Given the description of an element on the screen output the (x, y) to click on. 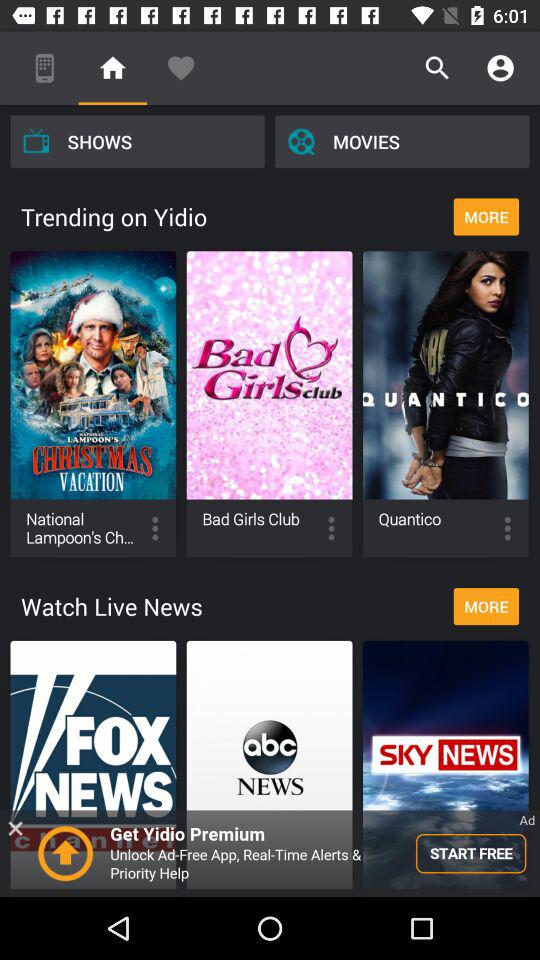
turn on the icon above more (402, 141)
